Given the description of an element on the screen output the (x, y) to click on. 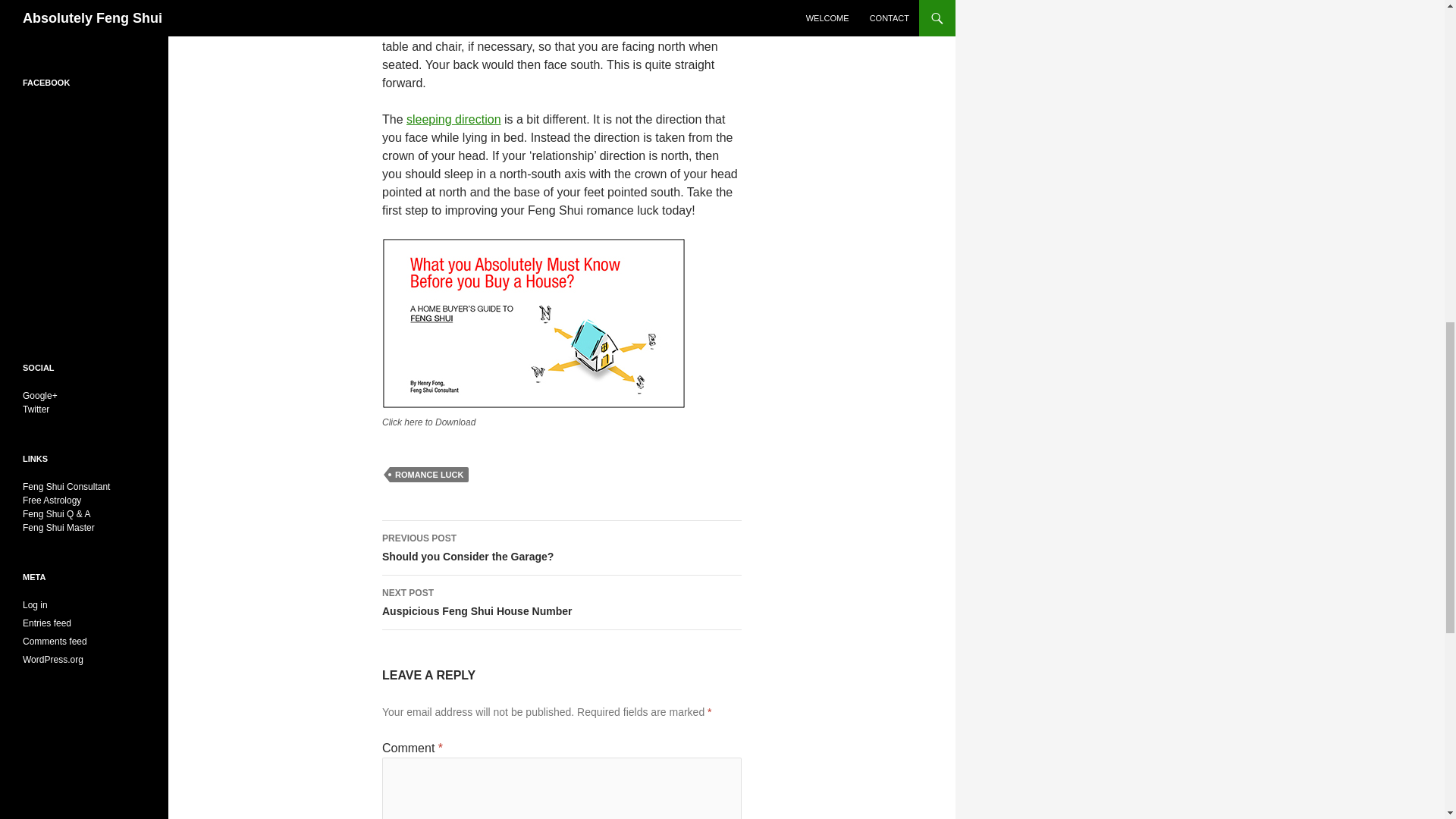
ROMANCE LUCK (561, 602)
sleeping direction (429, 474)
Feng Shui Personal Gua and Sleeping Directions (453, 119)
